Given the description of an element on the screen output the (x, y) to click on. 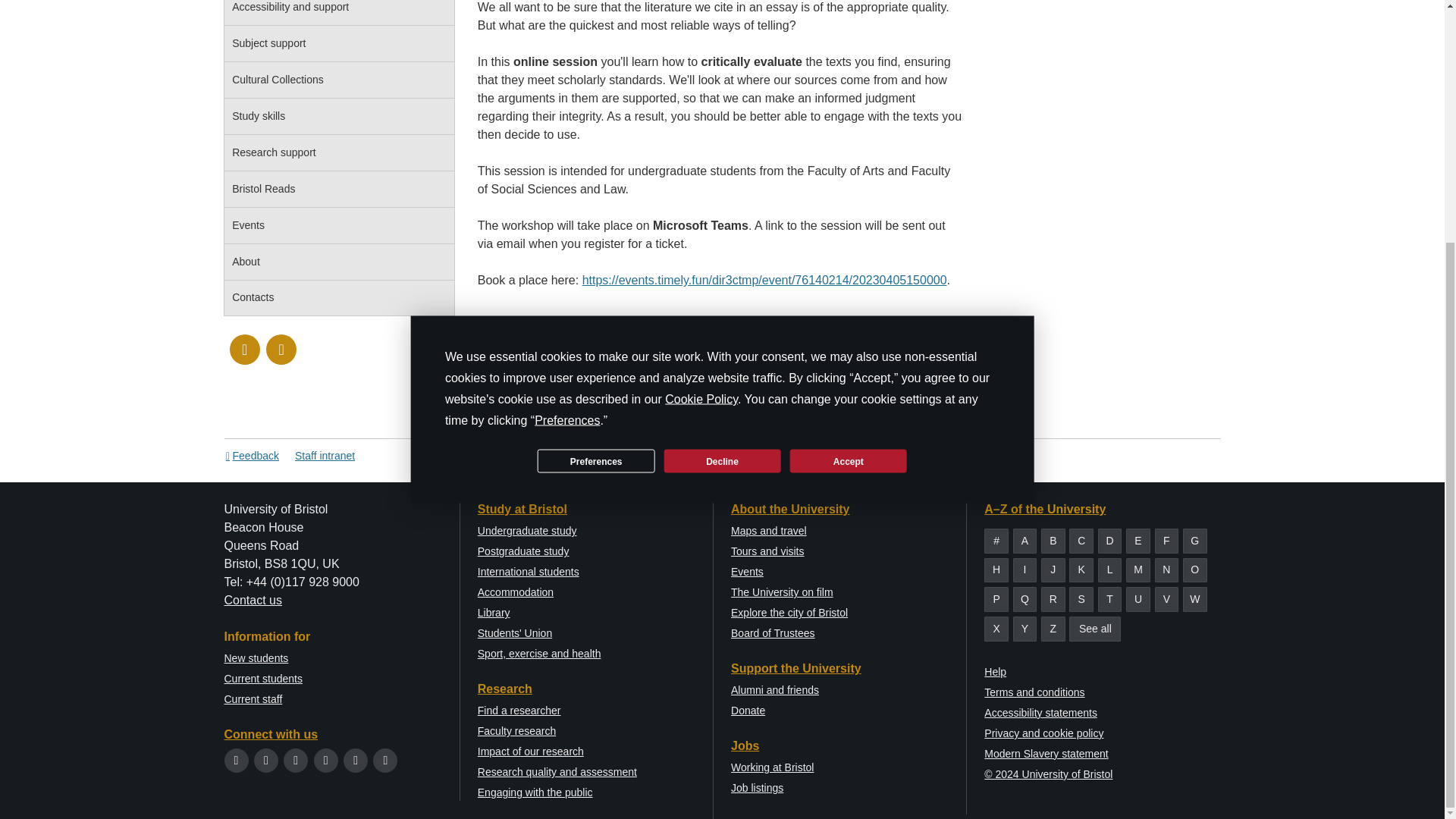
Instagram (281, 349)
Accessibility and support (339, 13)
Subject support (339, 43)
Twitter (236, 760)
Facebook (265, 760)
Decline (721, 125)
Events (339, 226)
Flickr (384, 760)
Accept (848, 125)
Study skills (339, 116)
YouTube (325, 760)
Contacts (339, 298)
LinkedIn (355, 760)
About (339, 262)
Bristol Reads (339, 189)
